Given the description of an element on the screen output the (x, y) to click on. 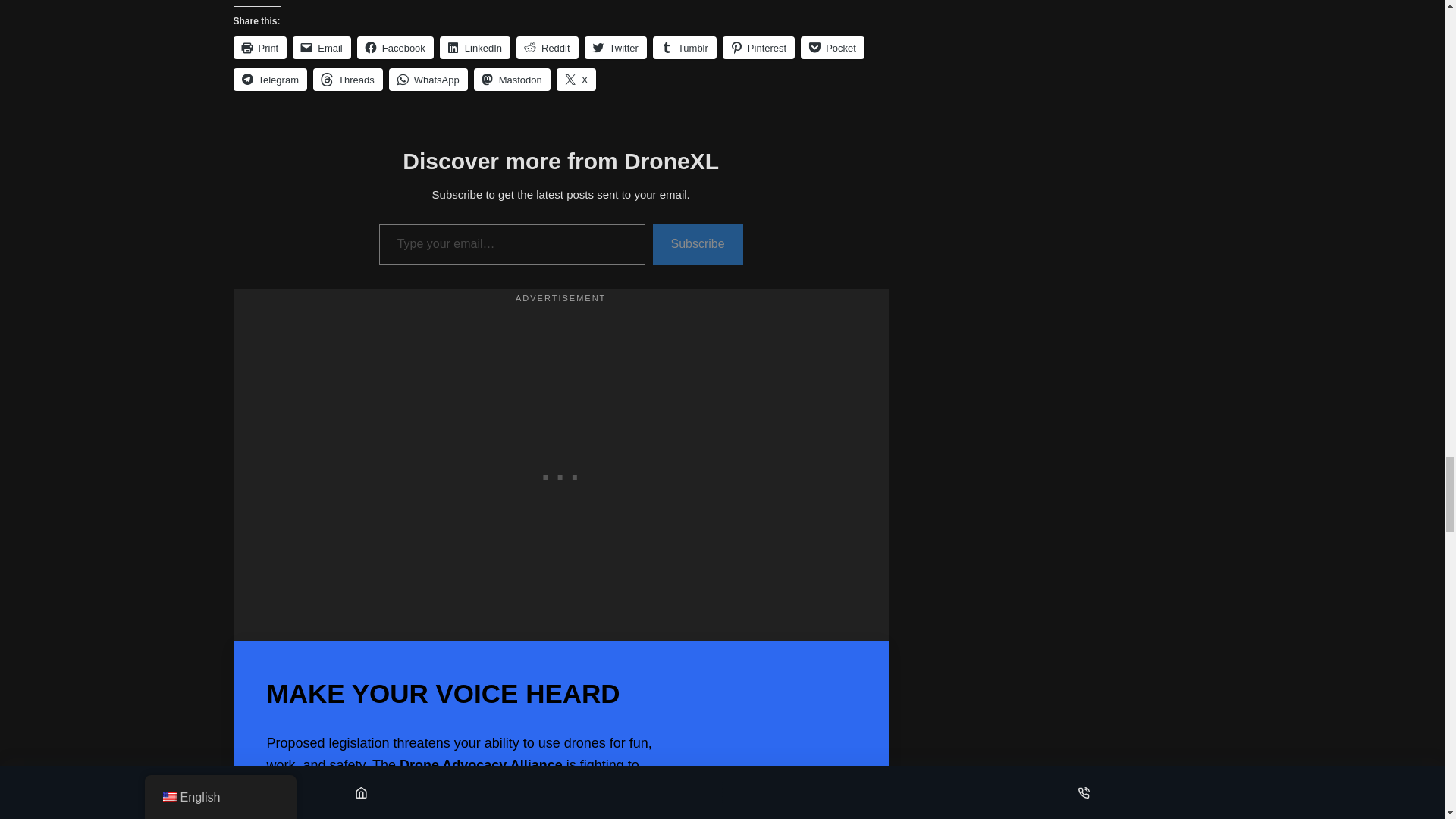
Click to print (259, 47)
